Given the description of an element on the screen output the (x, y) to click on. 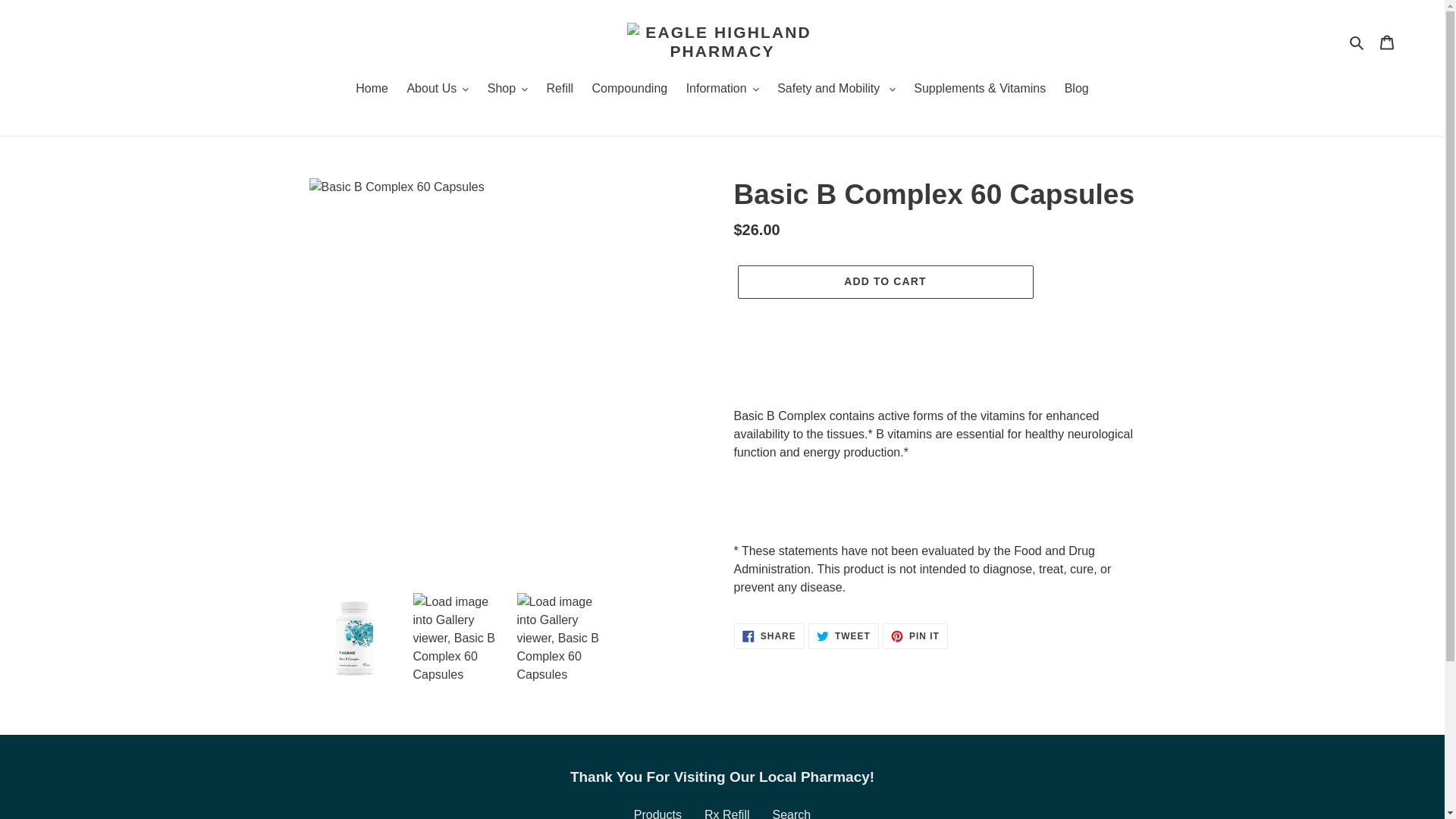
Search (1357, 41)
Cart (1387, 41)
